Given the description of an element on the screen output the (x, y) to click on. 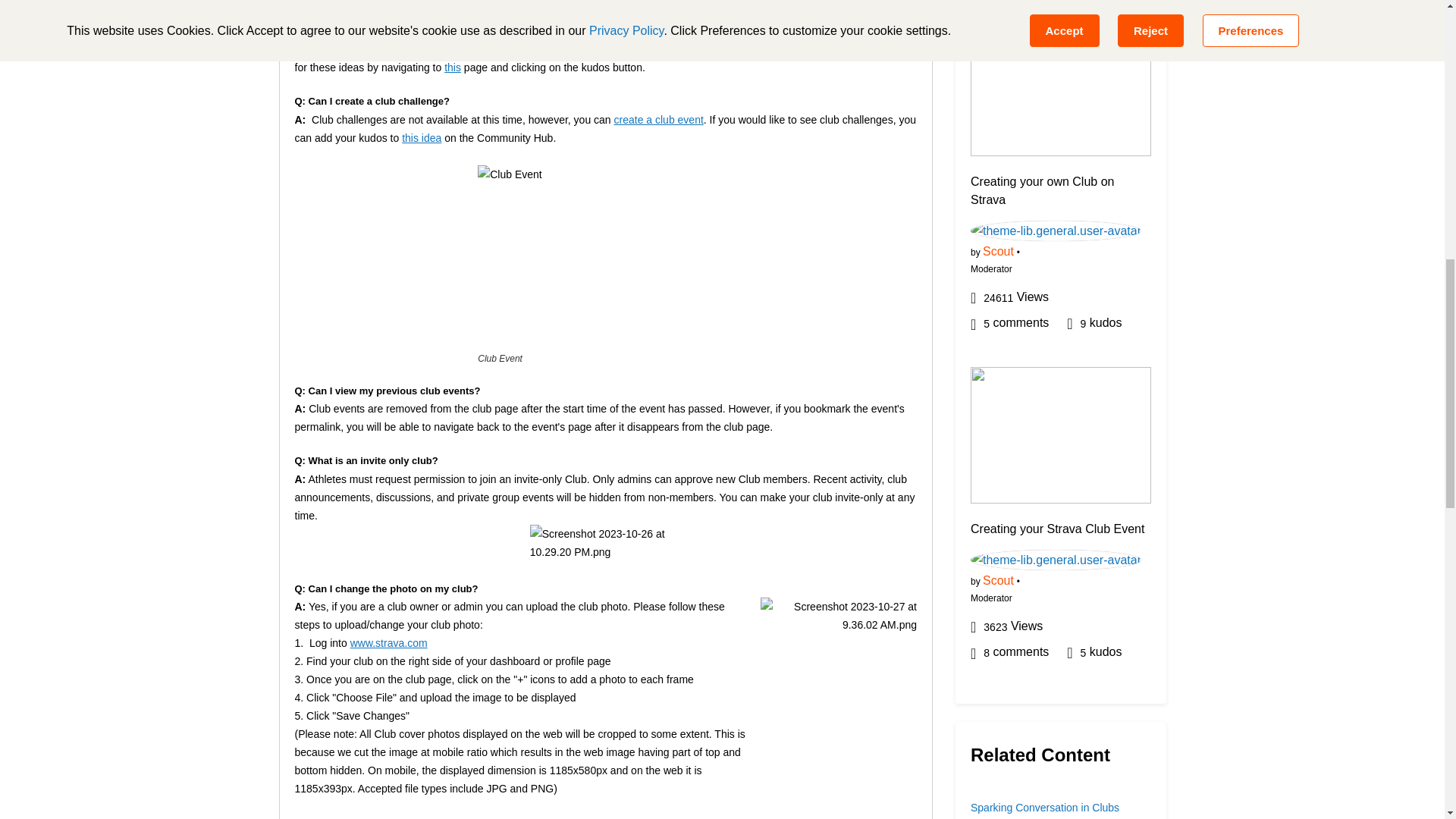
this (452, 67)
create a club event (658, 119)
Strava.com (591, 12)
